Given the description of an element on the screen output the (x, y) to click on. 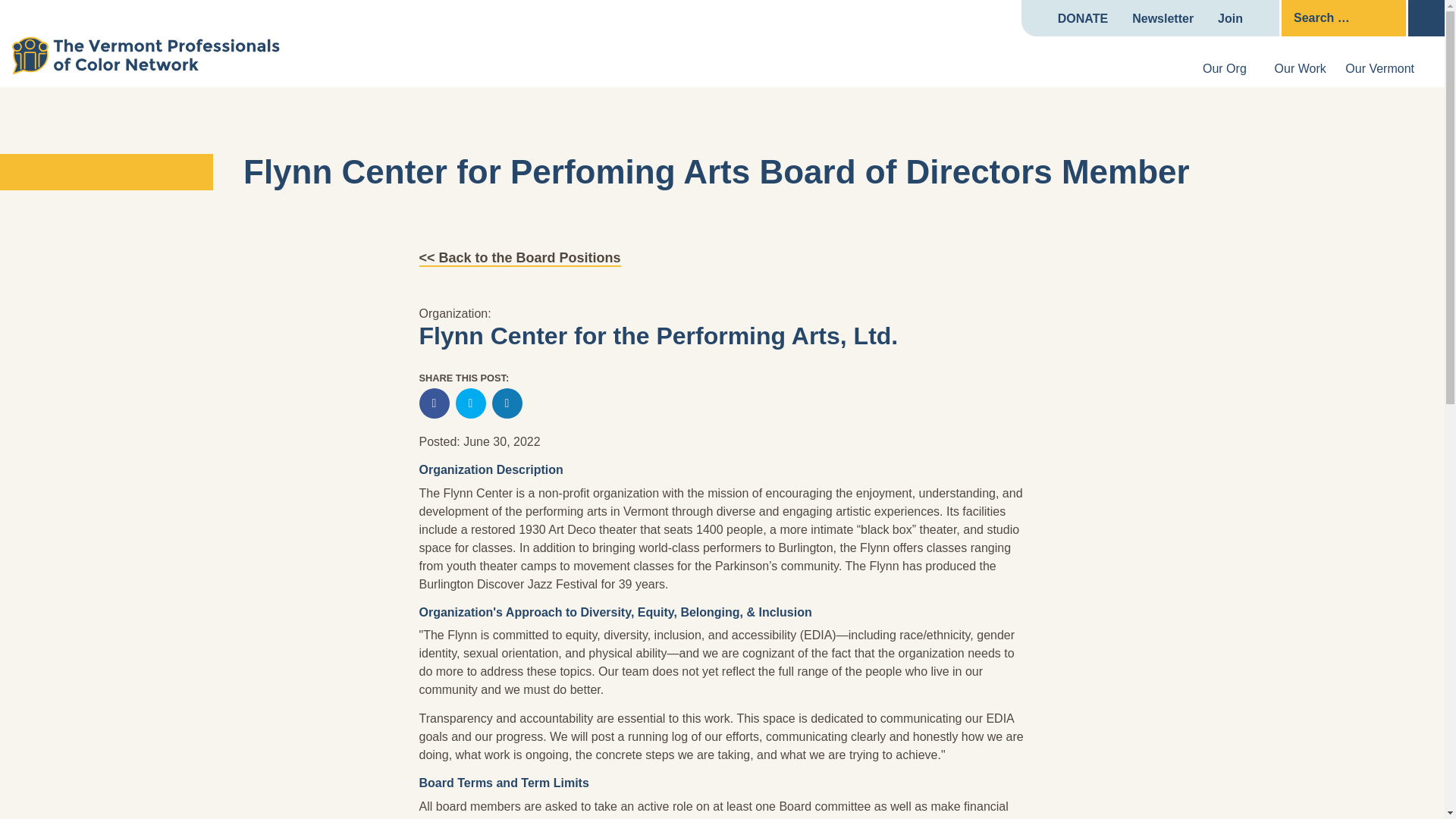
Join (1230, 19)
DONATE (1083, 19)
Our Work (1300, 68)
Newsletter (1162, 19)
Our Vermont (1379, 68)
Our Org (1224, 68)
